Given the description of an element on the screen output the (x, y) to click on. 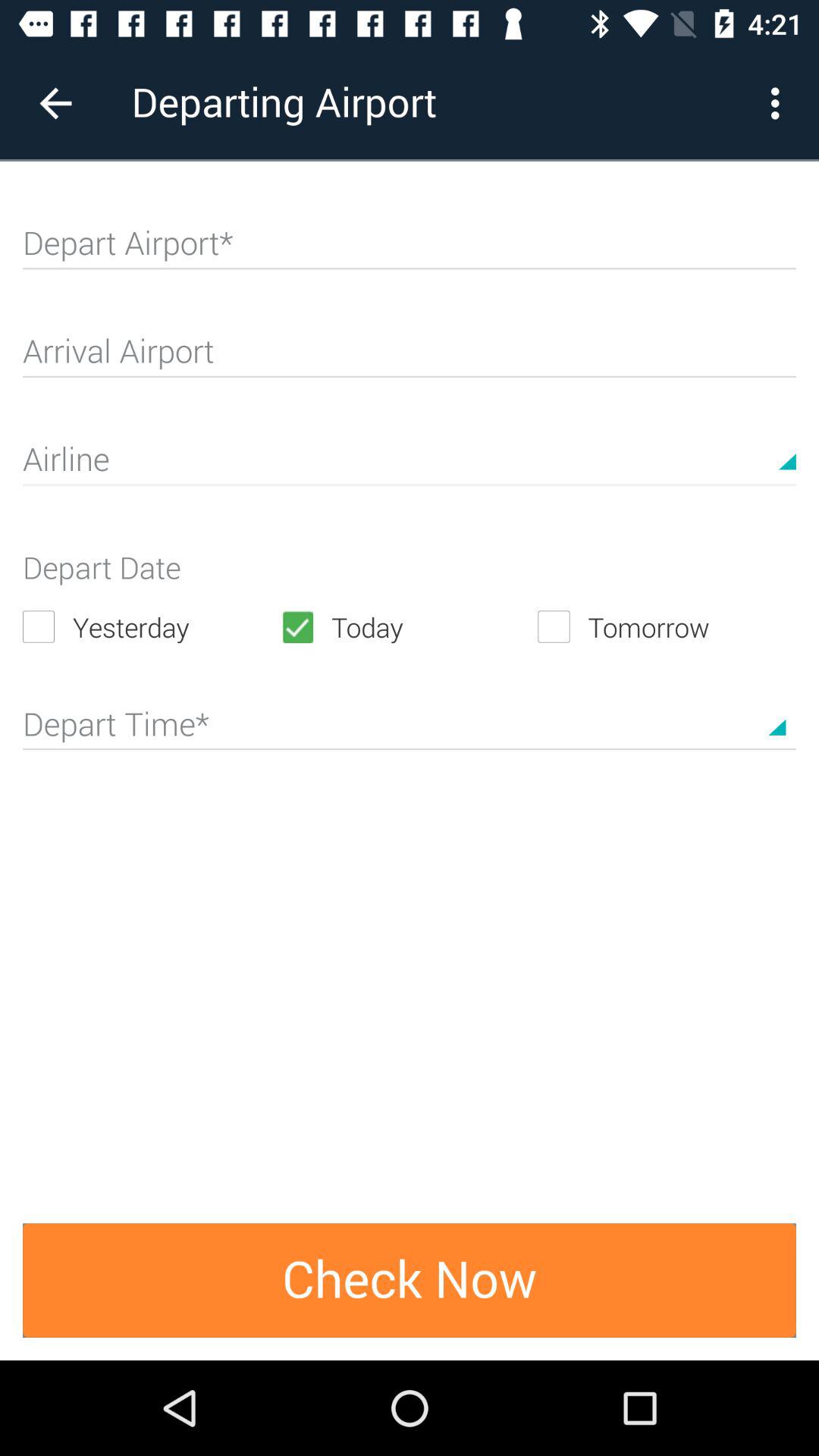
open the item to the left of the departing airport item (55, 103)
